Given the description of an element on the screen output the (x, y) to click on. 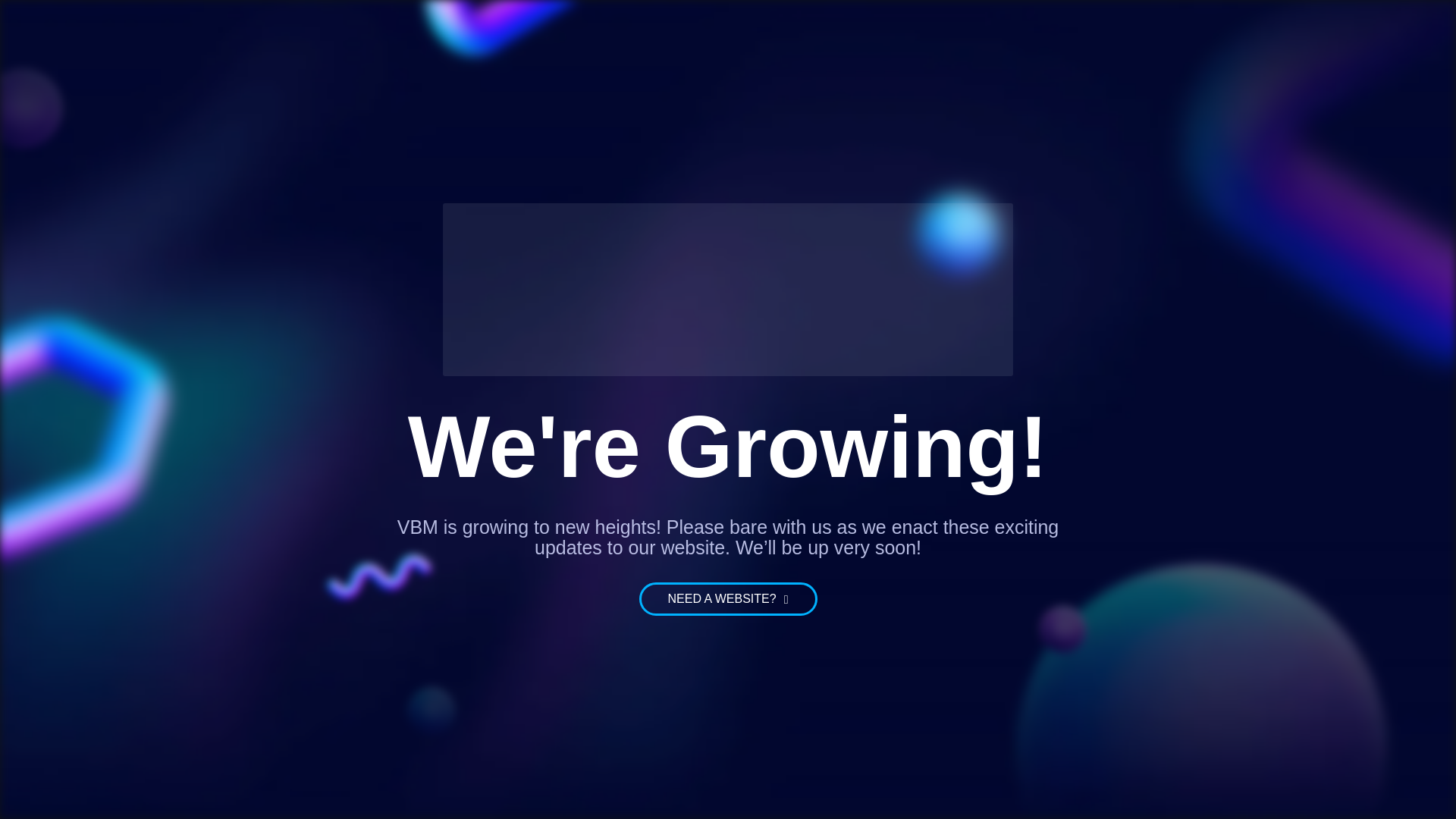
Website Under Maintenance 1 (727, 289)
NEED A WEBSITE? (727, 598)
